Given the description of an element on the screen output the (x, y) to click on. 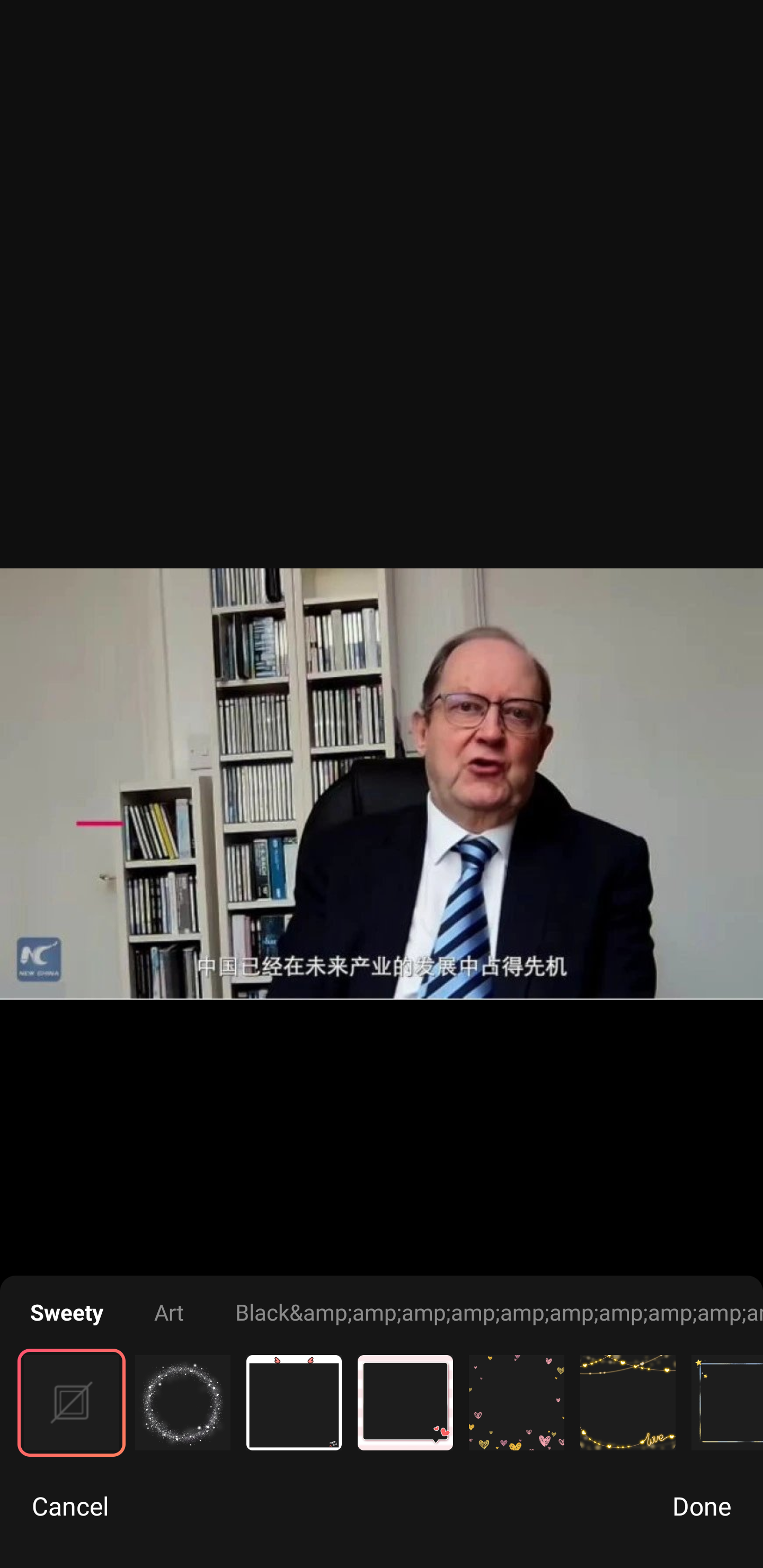
Sweety (66, 1312)
Art (169, 1312)
Black&amp;amp;amp;amp;amp;amp;amp;amp;amp;amp (499, 1312)
Cancel (70, 1505)
Done (701, 1505)
